Given the description of an element on the screen output the (x, y) to click on. 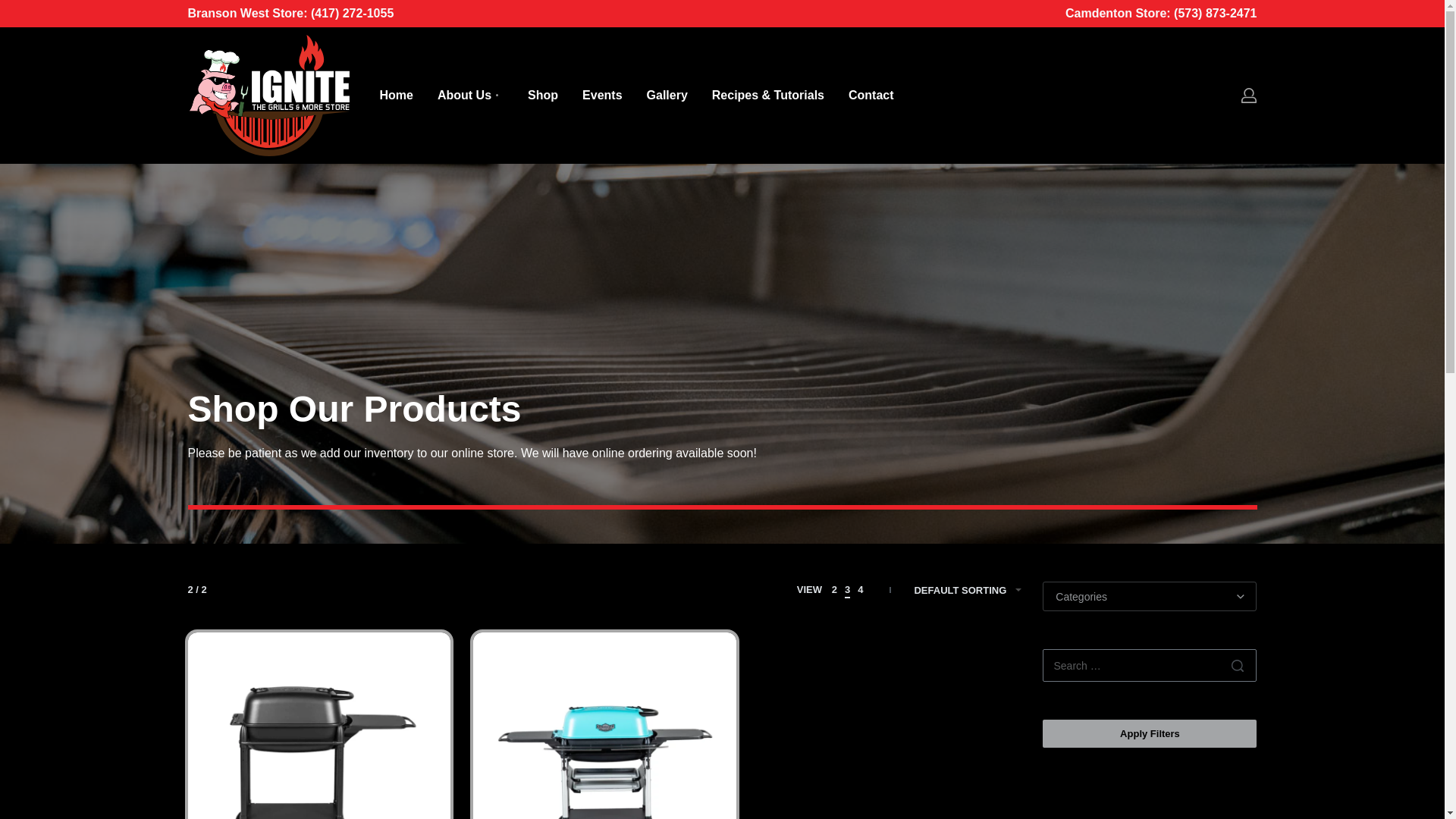
About Us (470, 95)
Shop (542, 95)
Gallery (666, 95)
Events (601, 95)
Contact (870, 95)
Home (395, 95)
